Given the description of an element on the screen output the (x, y) to click on. 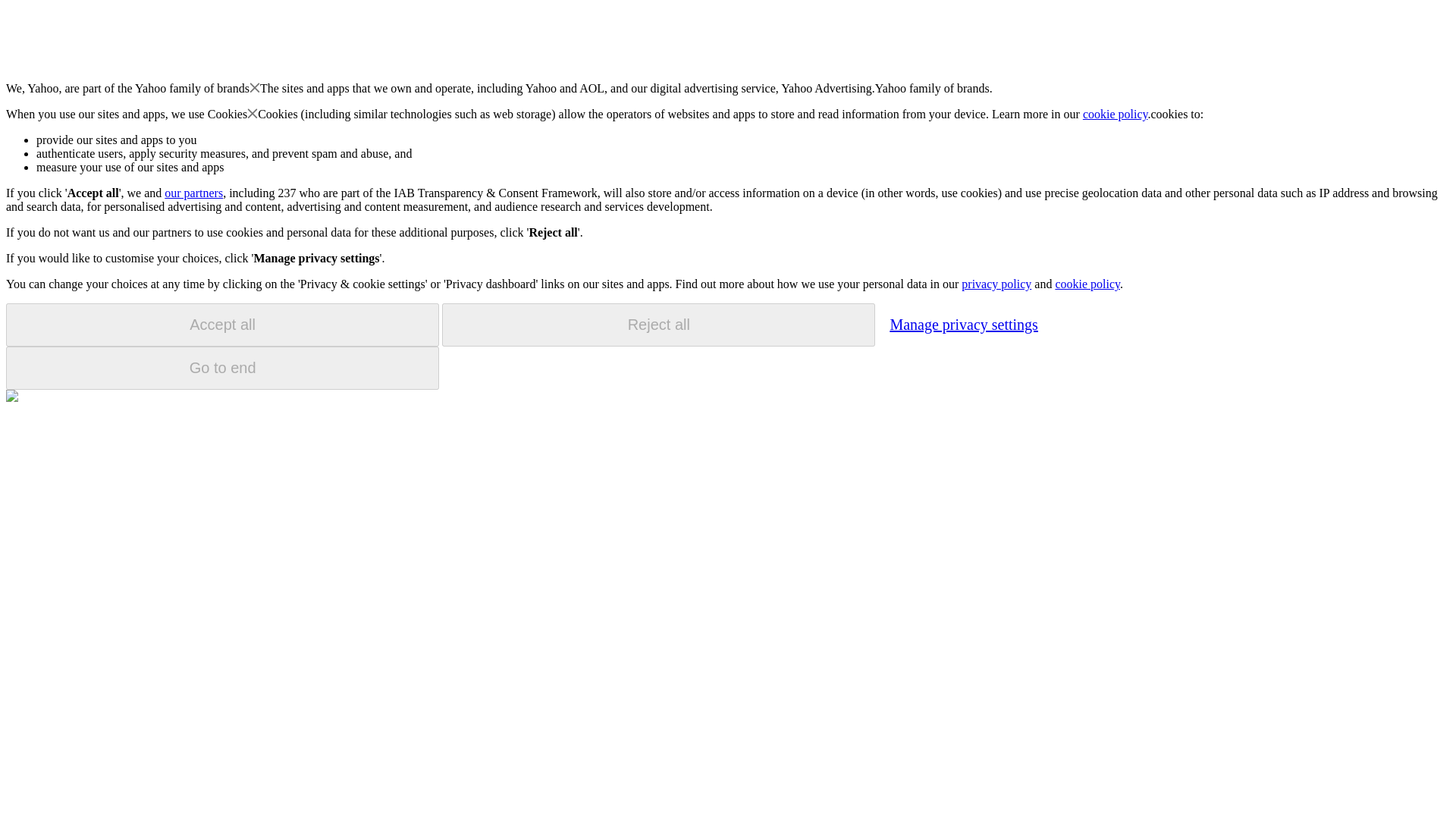
Reject all (658, 324)
Manage privacy settings (963, 323)
cookie policy (1115, 113)
cookie policy (1086, 283)
Accept all (222, 324)
Go to end (222, 367)
our partners (193, 192)
privacy policy (995, 283)
